Given the description of an element on the screen output the (x, y) to click on. 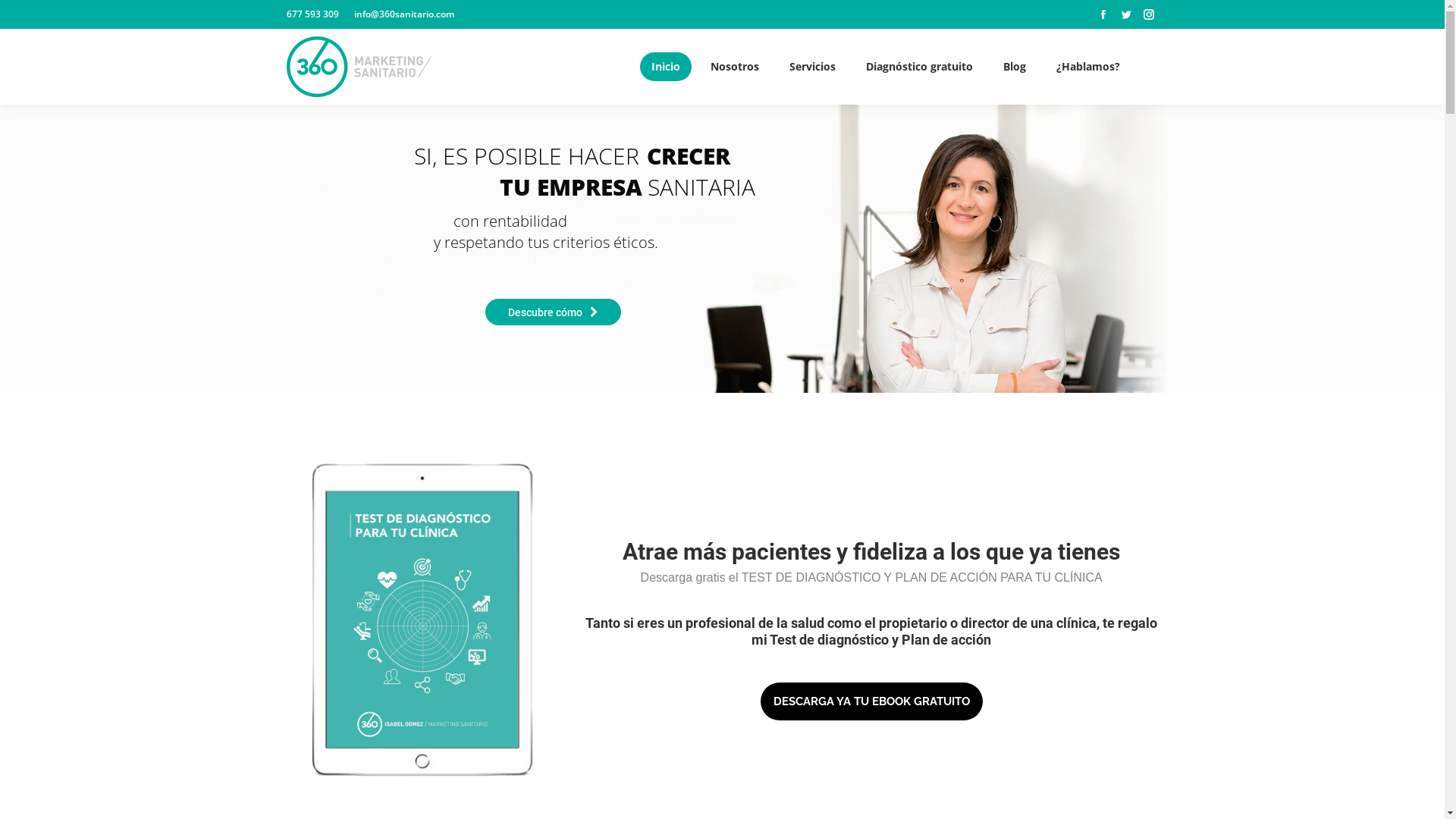
Twitter Element type: hover (1125, 14)
Servicios Element type: text (812, 66)
  Element type: text (1154, 66)
Facebook Element type: hover (1103, 14)
Nosotros Element type: text (734, 66)
Blog Element type: text (1014, 66)
DESCARGA YA TU EBOOK GRATUITO Element type: text (871, 701)
Ir! Element type: text (18, 14)
Instagram Element type: hover (1148, 14)
Inicio Element type: text (665, 66)
